Given the description of an element on the screen output the (x, y) to click on. 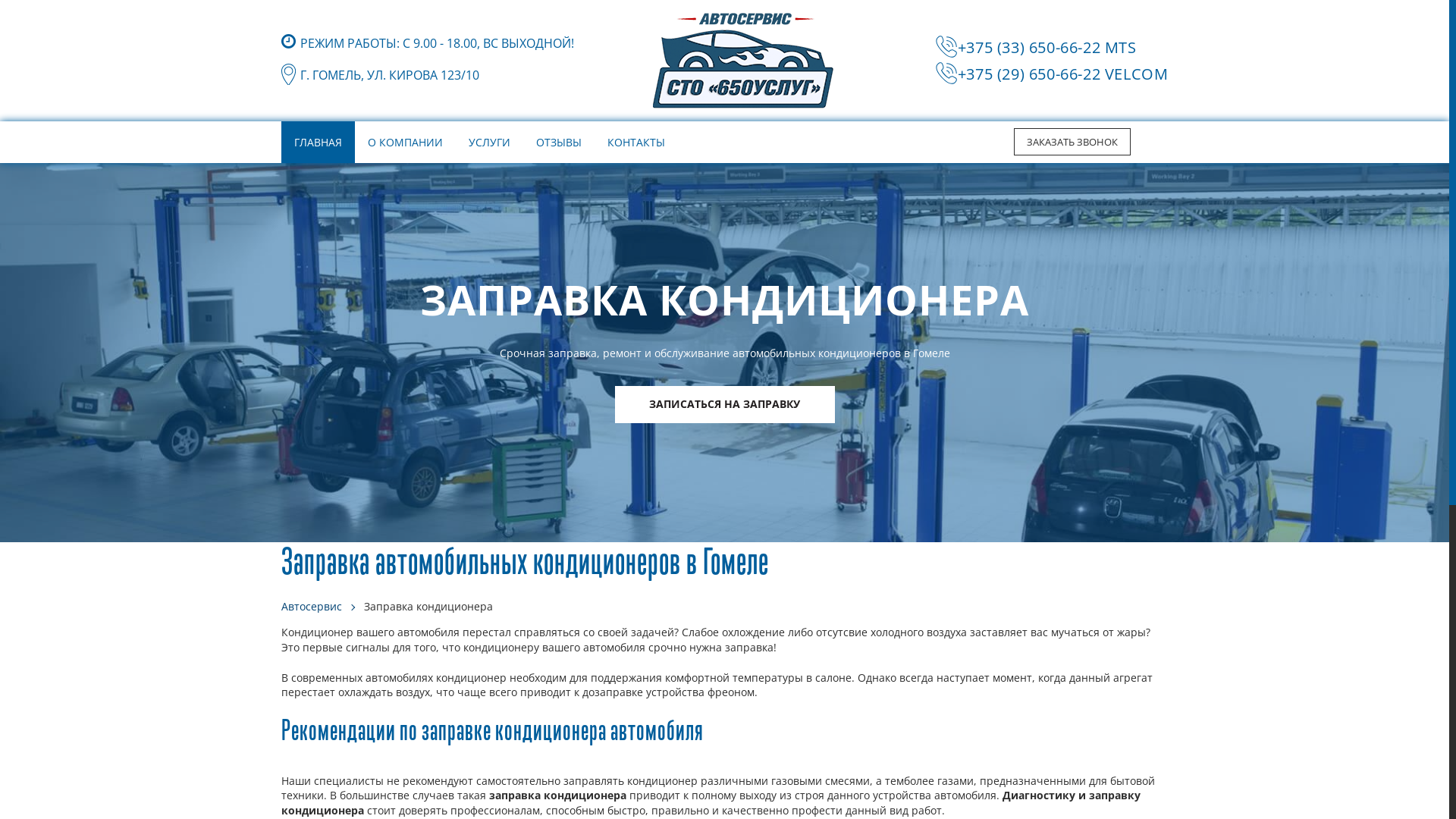
+375 (29) 650-66-22 VELCOM Element type: text (1062, 73)
+375 (33) 650-66-22 MTS Element type: text (1046, 46)
